Given the description of an element on the screen output the (x, y) to click on. 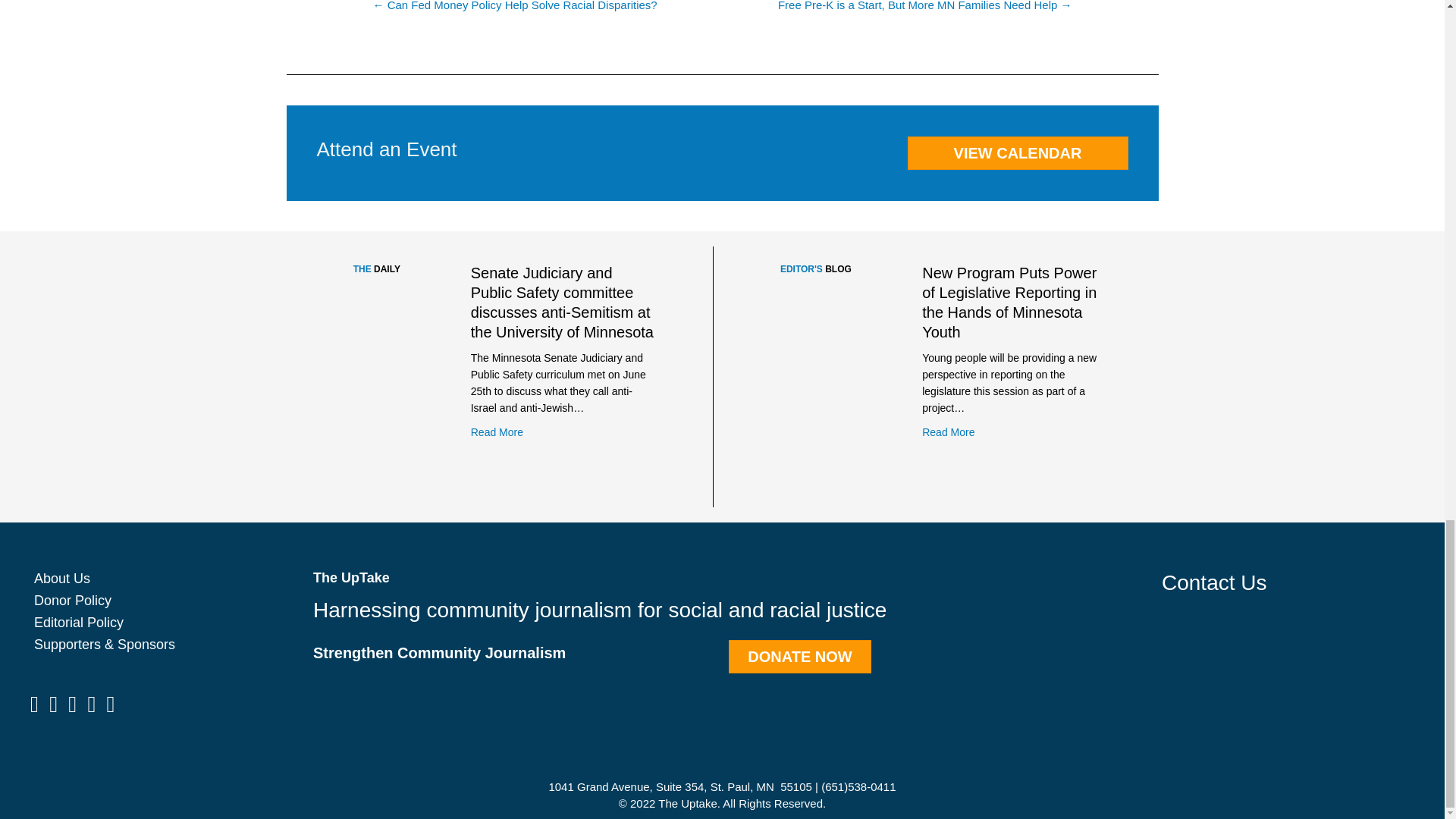
VIEW CALENDAR (1016, 152)
